Given the description of an element on the screen output the (x, y) to click on. 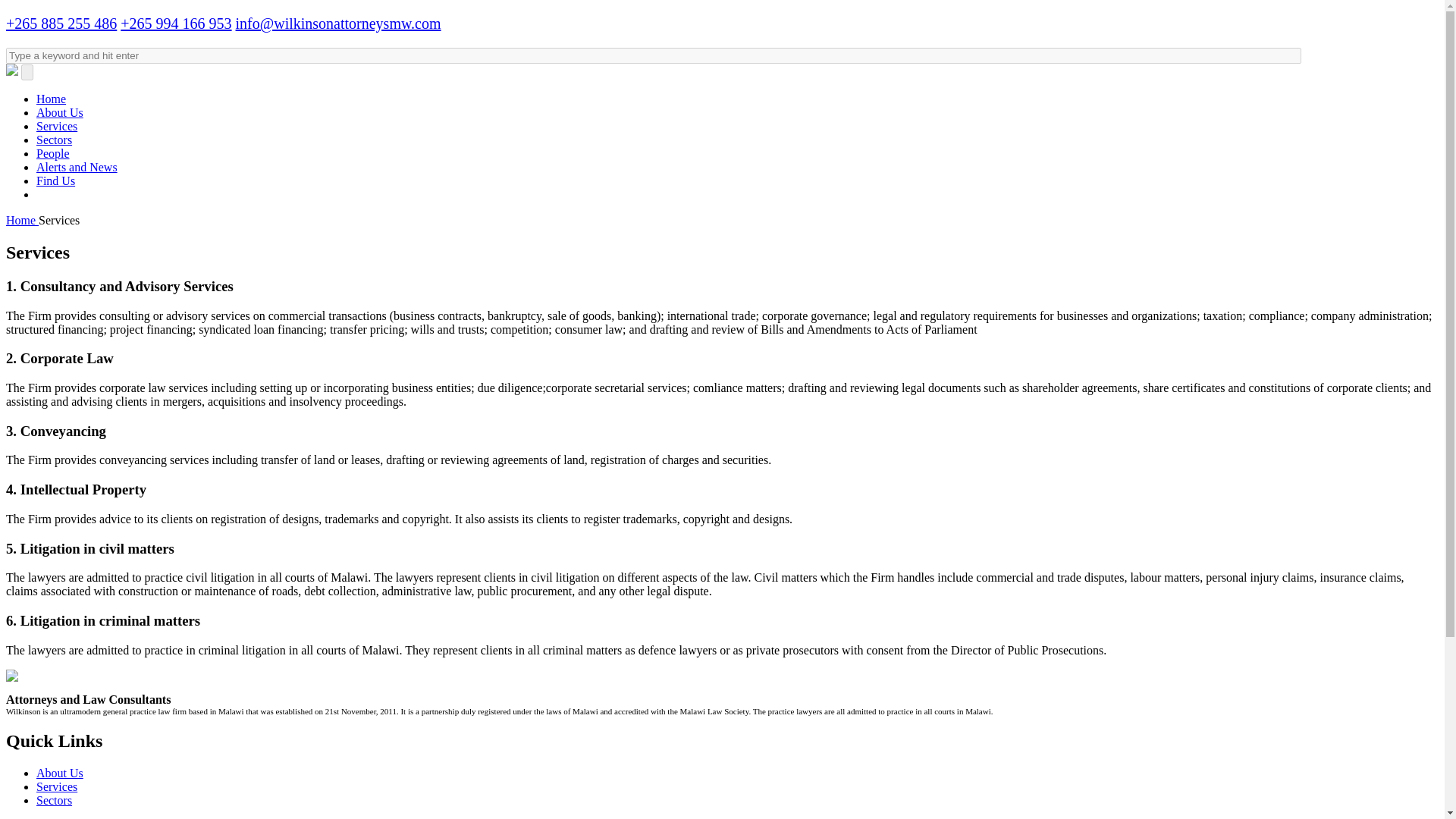
About Us (59, 772)
About Us (59, 112)
People (52, 153)
Find Us (55, 180)
Services (56, 786)
Sectors (53, 799)
Home (50, 98)
Sectors (53, 139)
Alerts and News (76, 166)
Services (56, 125)
